Given the description of an element on the screen output the (x, y) to click on. 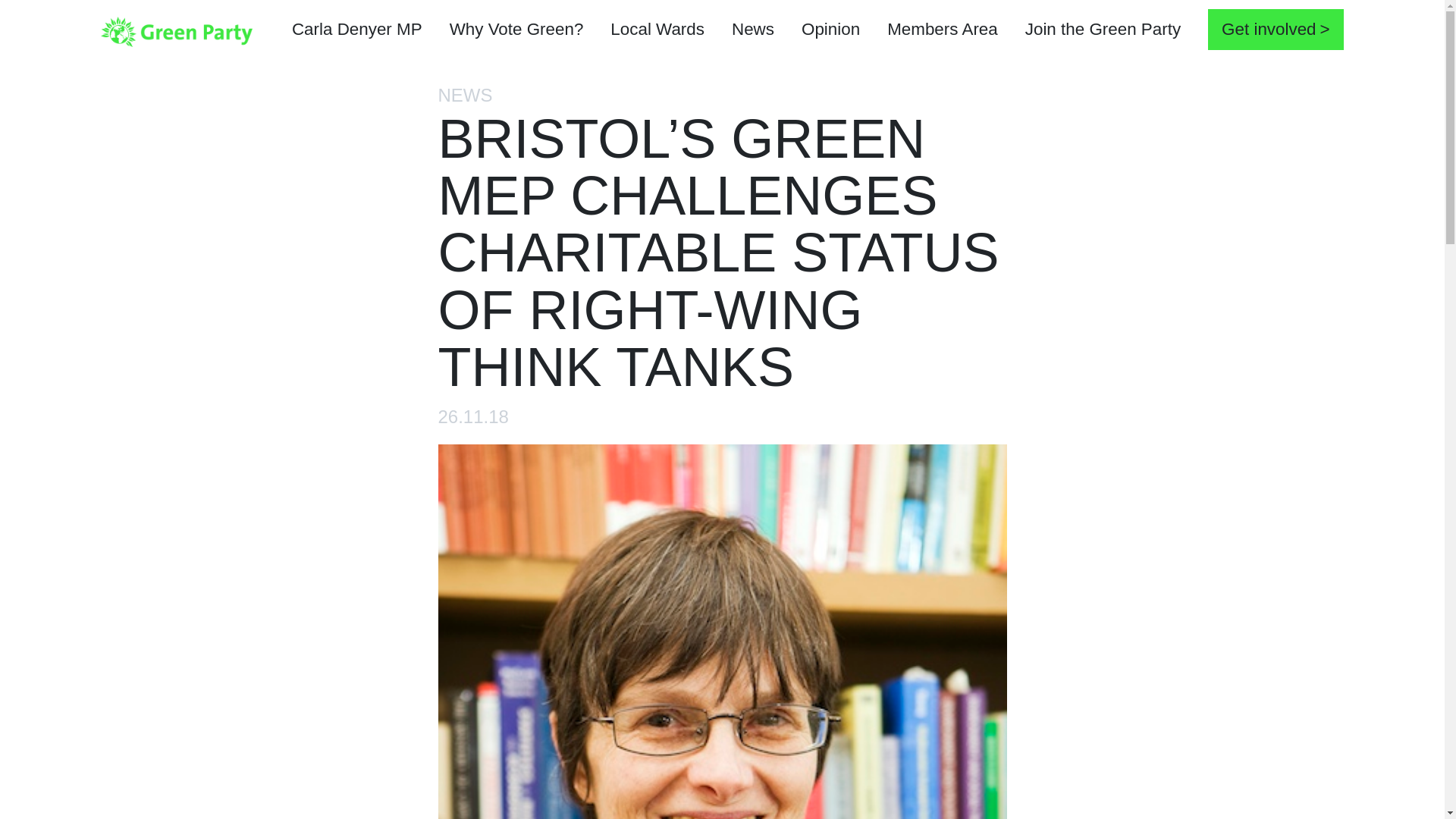
Opinion (830, 31)
Local Wards (656, 31)
Green Party Logo (175, 30)
Get involved (1275, 29)
Carla Denyer MP (356, 31)
Members Area (942, 31)
Why Vote Green? (515, 31)
Join the Green Party (1102, 31)
News (752, 31)
